Given the description of an element on the screen output the (x, y) to click on. 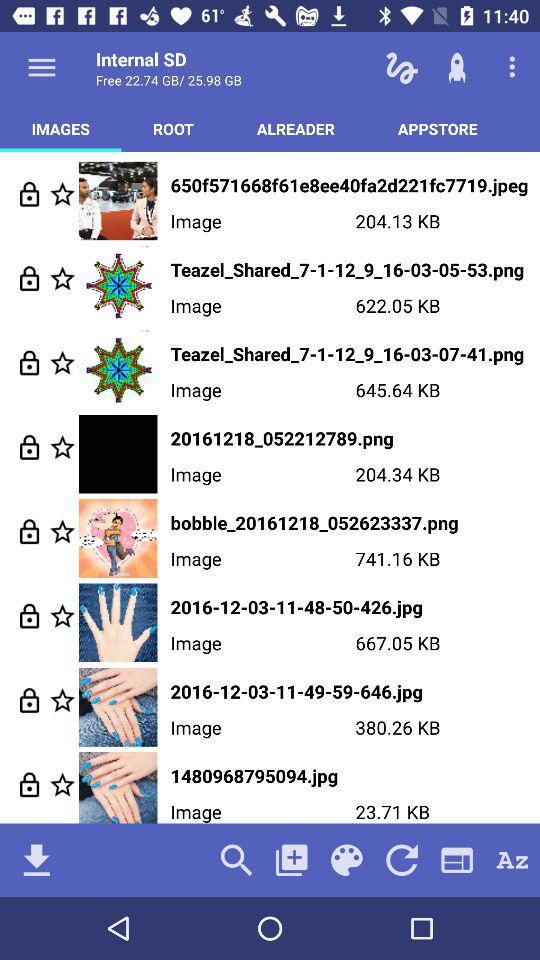
favorite the image (62, 531)
